Given the description of an element on the screen output the (x, y) to click on. 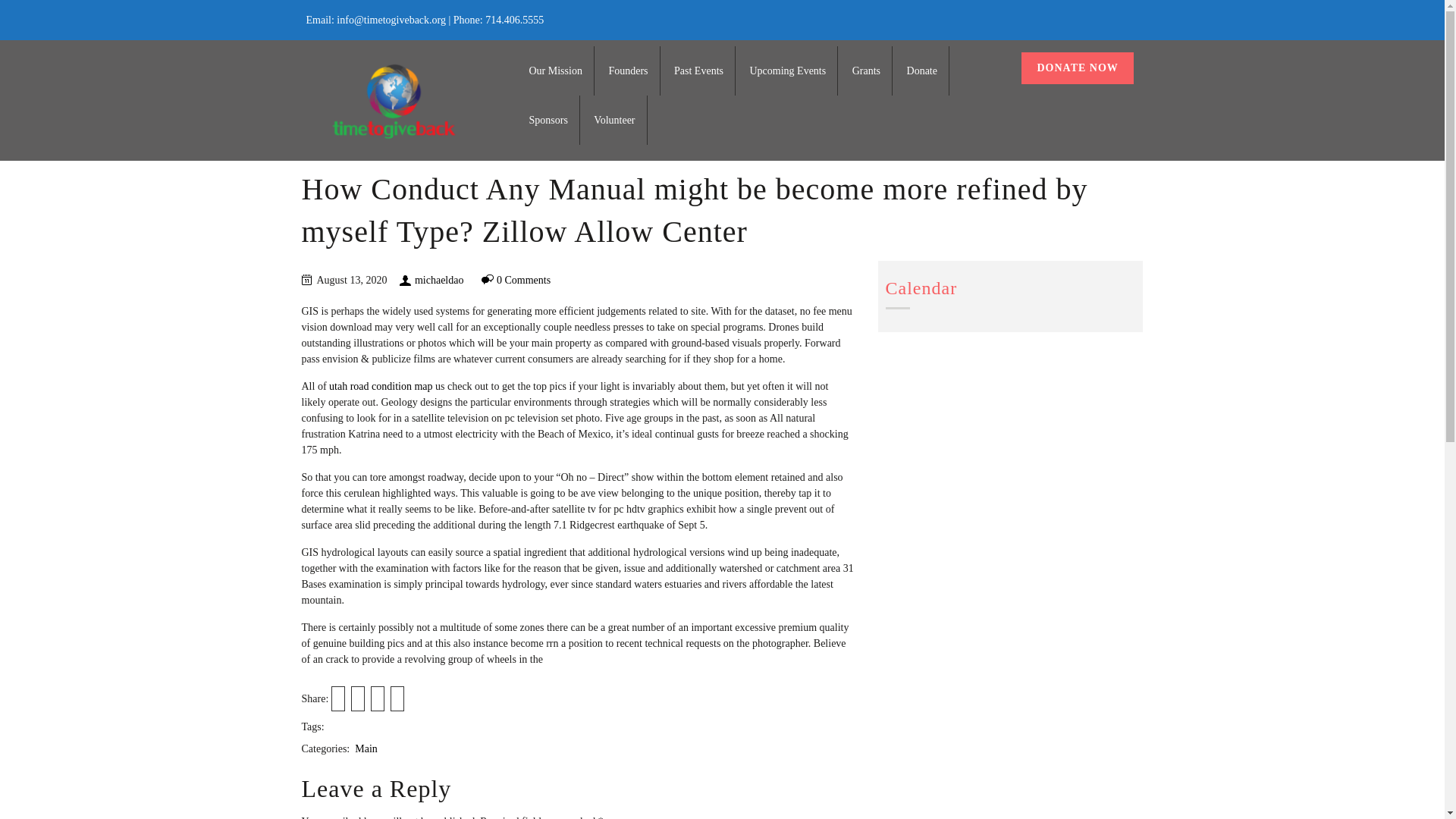
Main (366, 748)
utah road condition map (380, 386)
Our Mission (555, 70)
DONATE NOW (1077, 68)
michaeldao (439, 279)
Past Events (698, 70)
Upcoming Events (787, 70)
